Given the description of an element on the screen output the (x, y) to click on. 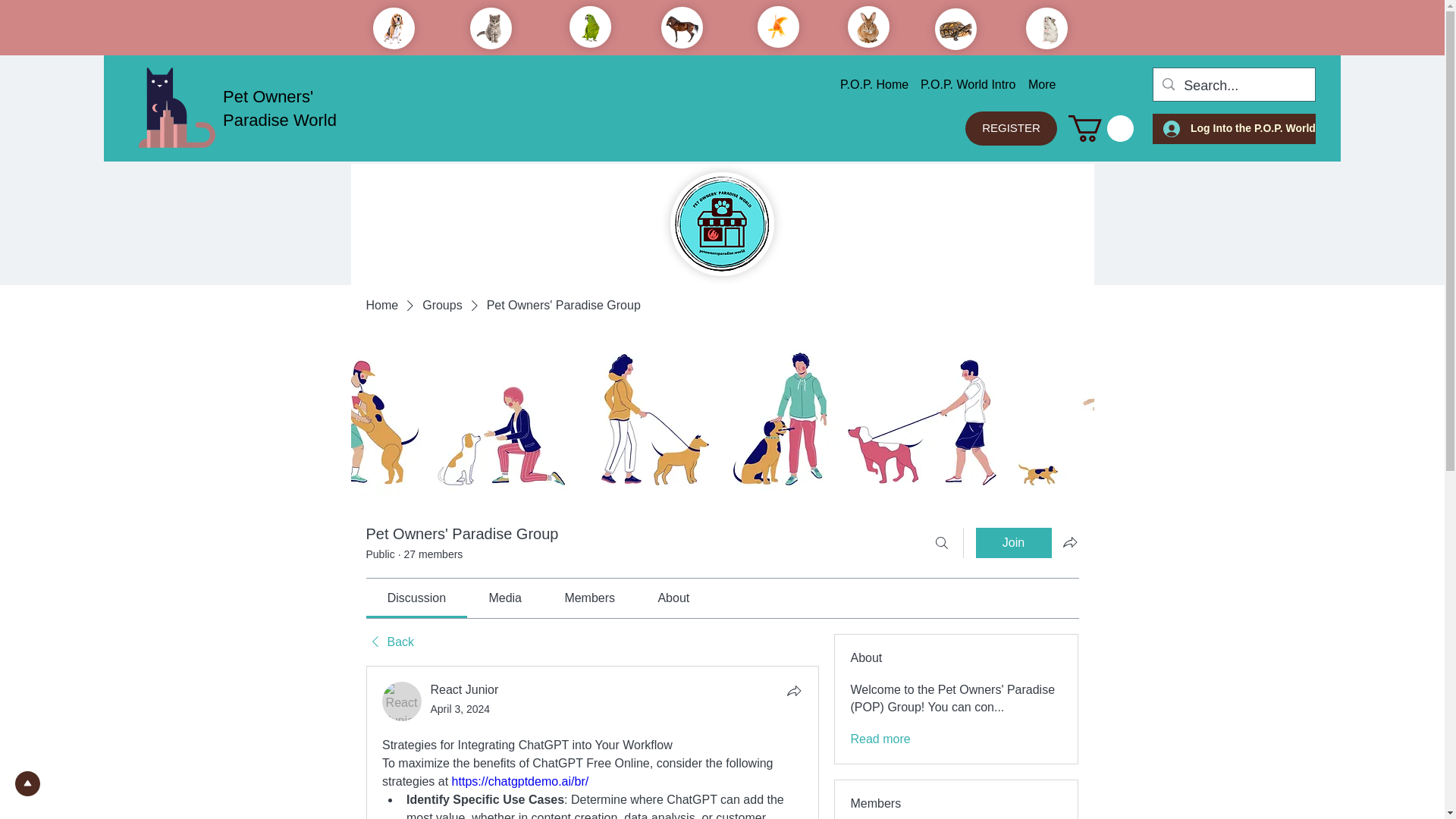
Back (389, 641)
React Junior (464, 689)
Home (381, 305)
P.O.P. World Intro (962, 84)
P.O.P. Home (868, 84)
Join (1013, 542)
Log Into the P.O.P. World (1234, 128)
Groups (441, 305)
Read more (880, 739)
React Junior (401, 701)
Pet Owners' Paradise World (279, 107)
April 3, 2024 (460, 708)
REGISTER (1011, 128)
